Given the description of an element on the screen output the (x, y) to click on. 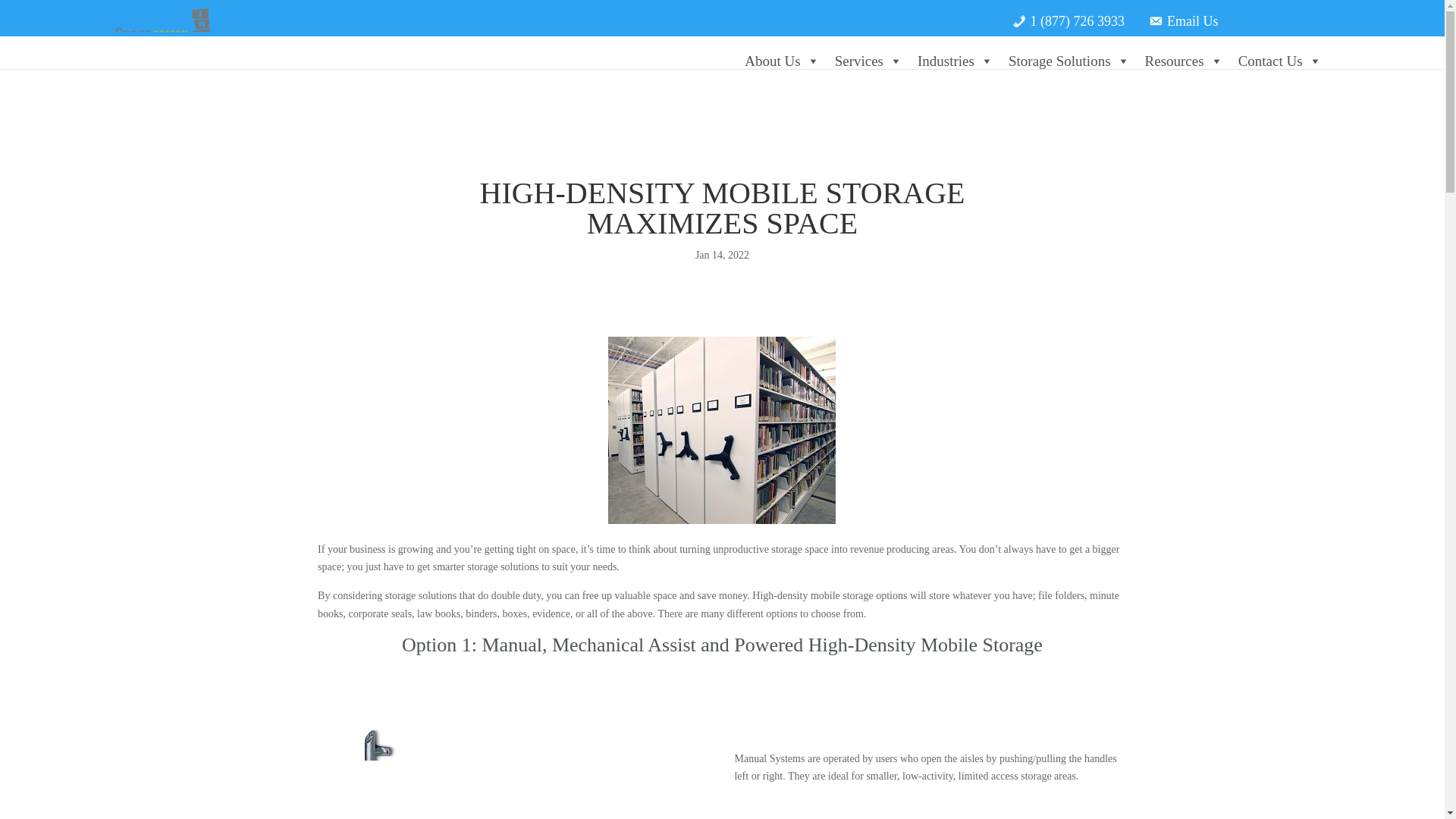
Industries (955, 60)
Services (868, 60)
Email Us (1183, 15)
Storage Solutions (1069, 60)
About Us (781, 60)
